Given the description of an element on the screen output the (x, y) to click on. 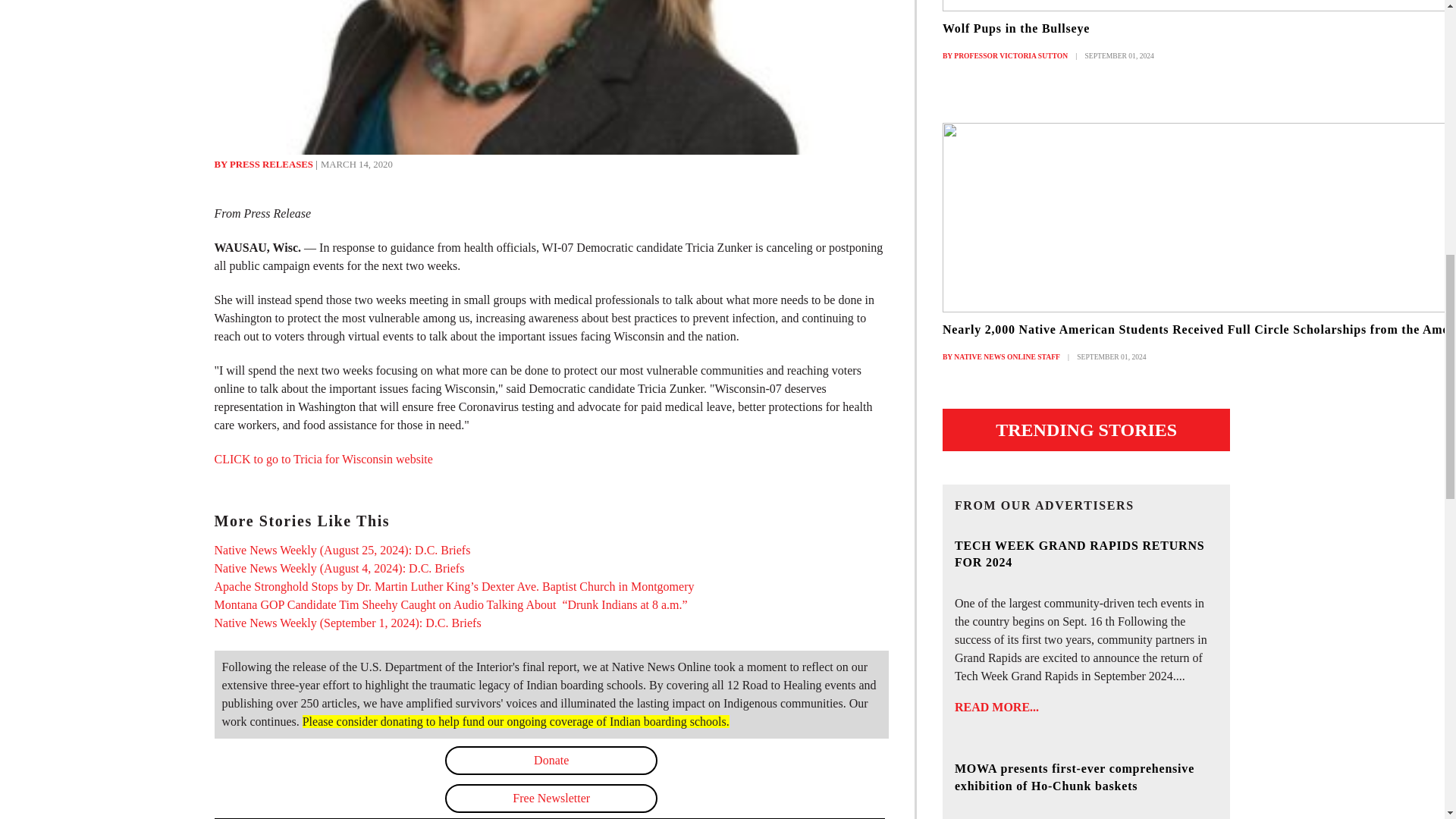
Free Newsletter (551, 798)
Donate (551, 760)
CLICK to go to Tricia for Wisconsin website (323, 459)
